Given the description of an element on the screen output the (x, y) to click on. 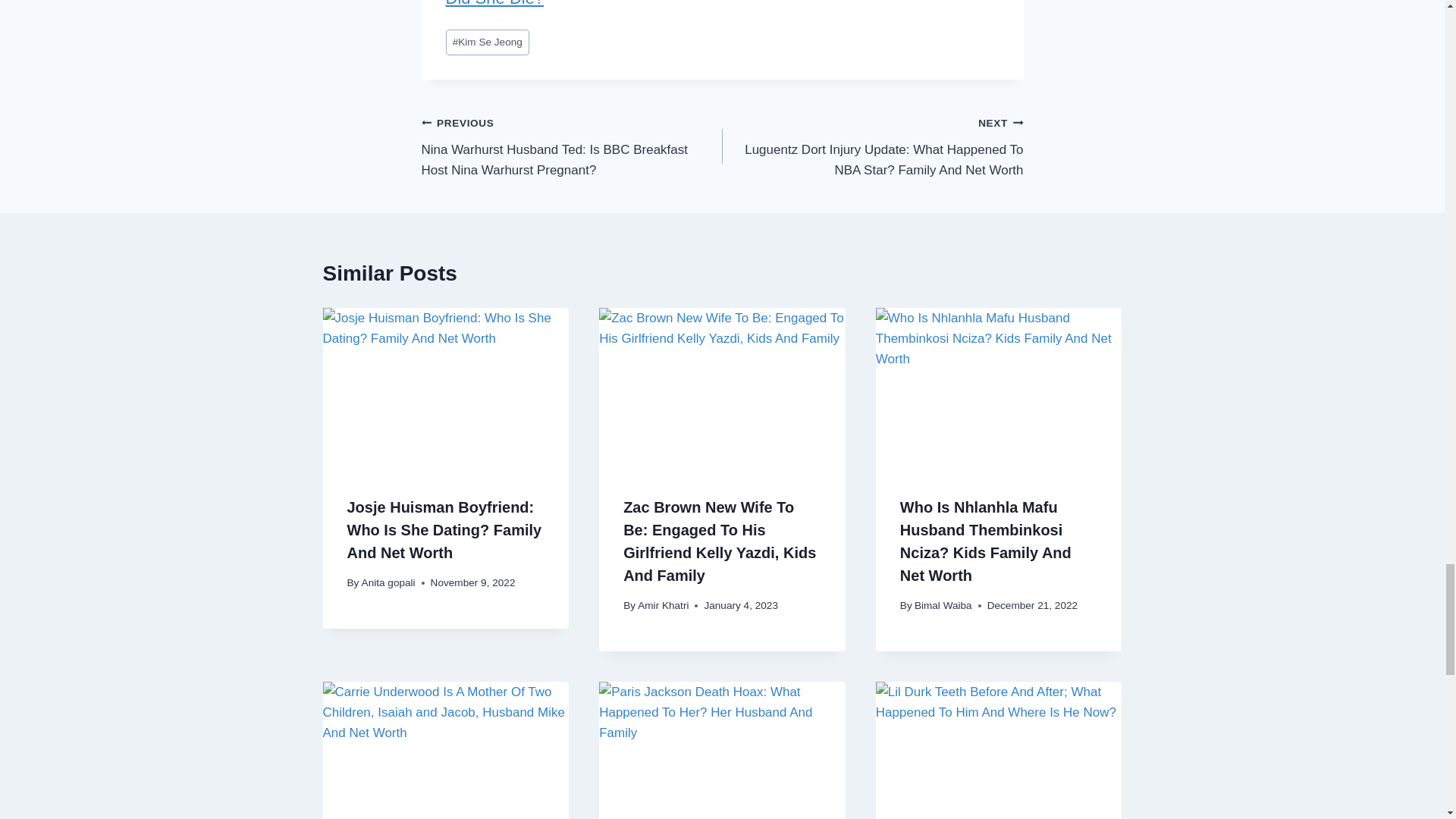
Bimal Waiba (943, 604)
Anita gopali (387, 582)
Amir Khatri (662, 604)
